Given the description of an element on the screen output the (x, y) to click on. 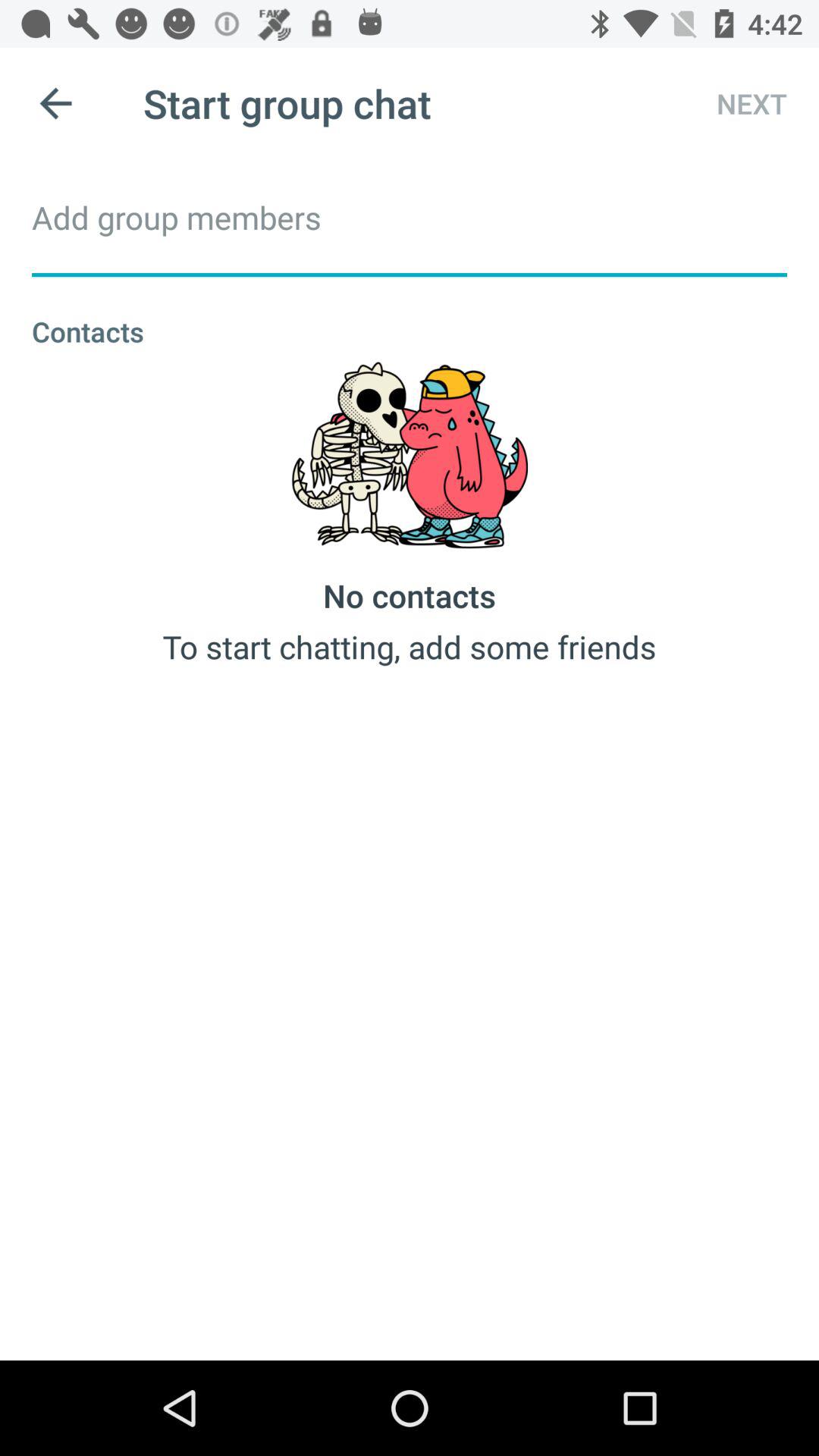
turn off icon below the start group chat item (409, 217)
